Given the description of an element on the screen output the (x, y) to click on. 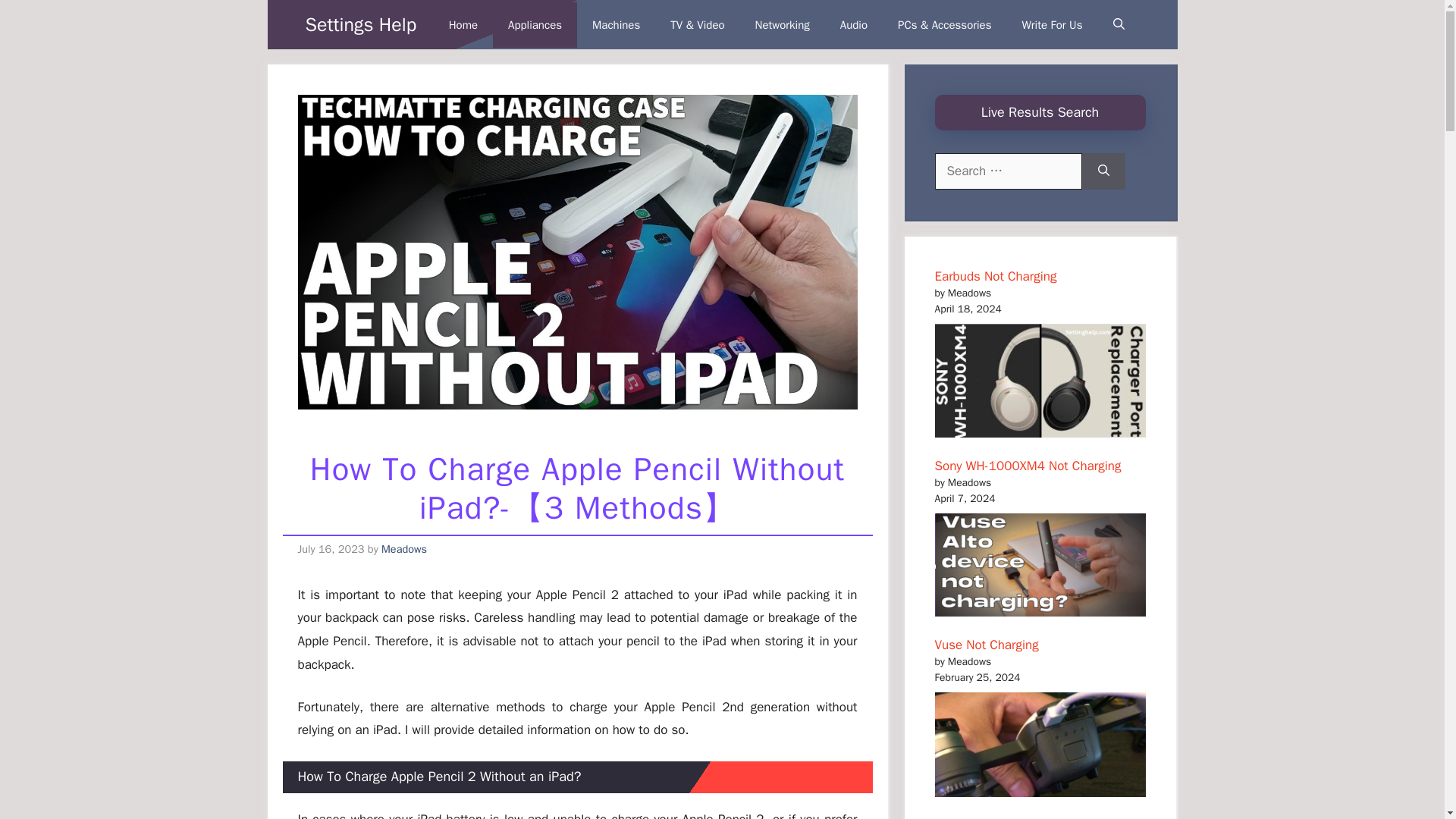
View all posts by Meadows (403, 549)
Write For Us (1052, 23)
Audio (853, 23)
Meadows (403, 549)
Appliances (534, 23)
Settings Help (360, 24)
Home (463, 23)
Networking (782, 23)
Machines (615, 23)
